Given the description of an element on the screen output the (x, y) to click on. 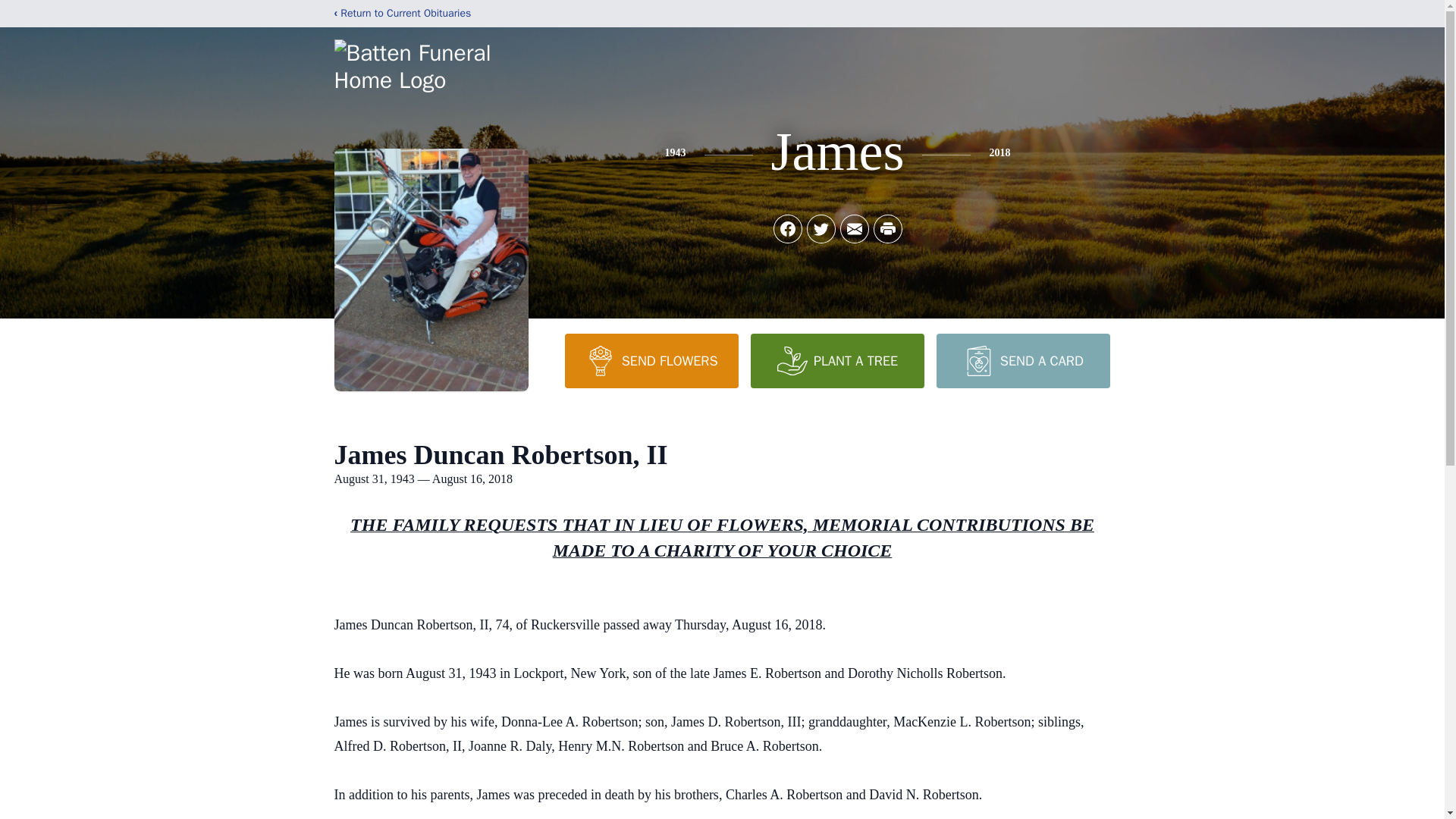
PLANT A TREE (837, 360)
SEND A CARD (1022, 360)
SEND FLOWERS (651, 360)
